Given the description of an element on the screen output the (x, y) to click on. 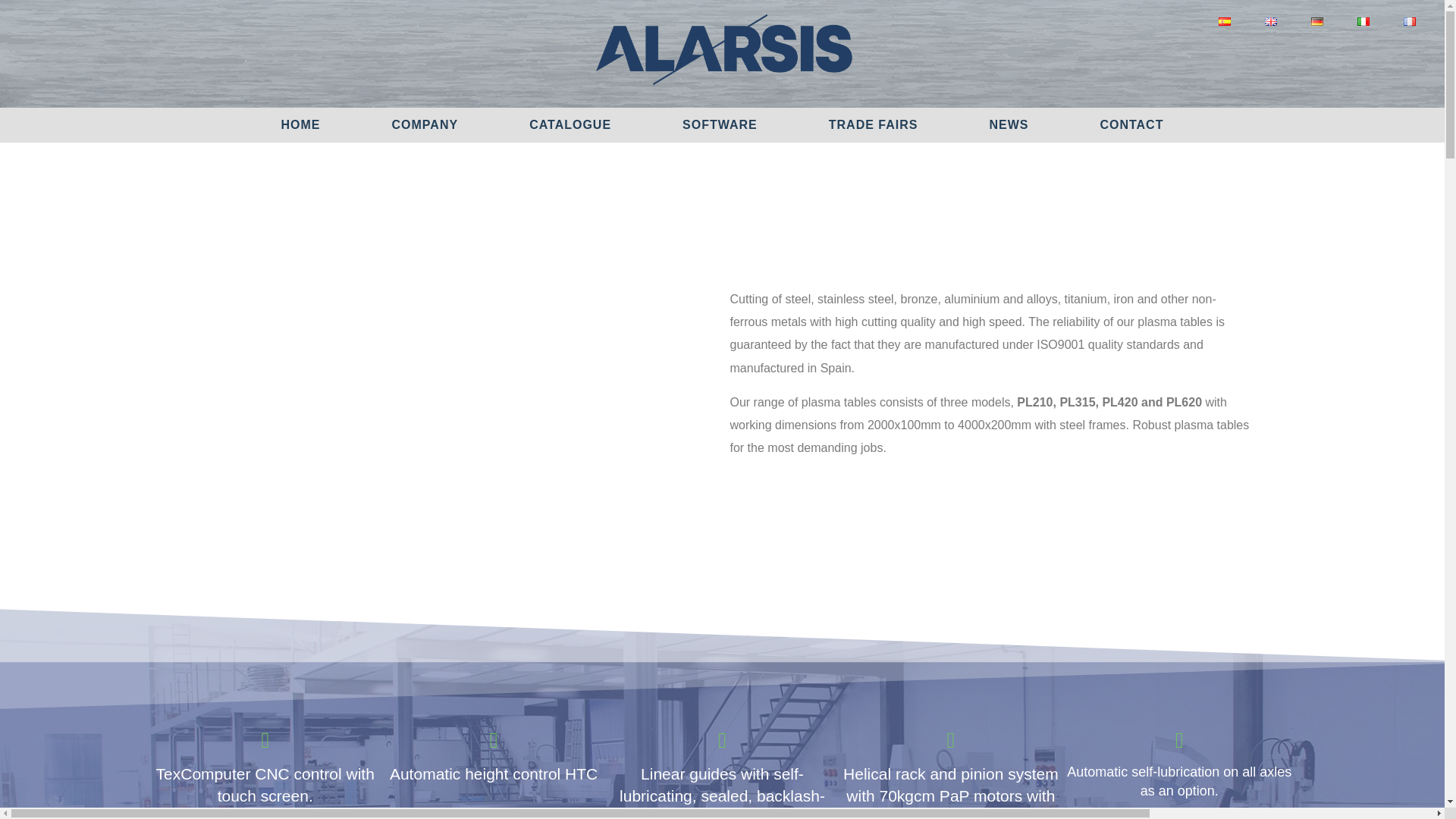
COMPANY (425, 124)
SOFTWARE (719, 124)
HOME (301, 124)
TRADE FAIRS (873, 124)
CONTACT (1131, 124)
NEWS (1008, 124)
CATALOGUE (569, 124)
